Given the description of an element on the screen output the (x, y) to click on. 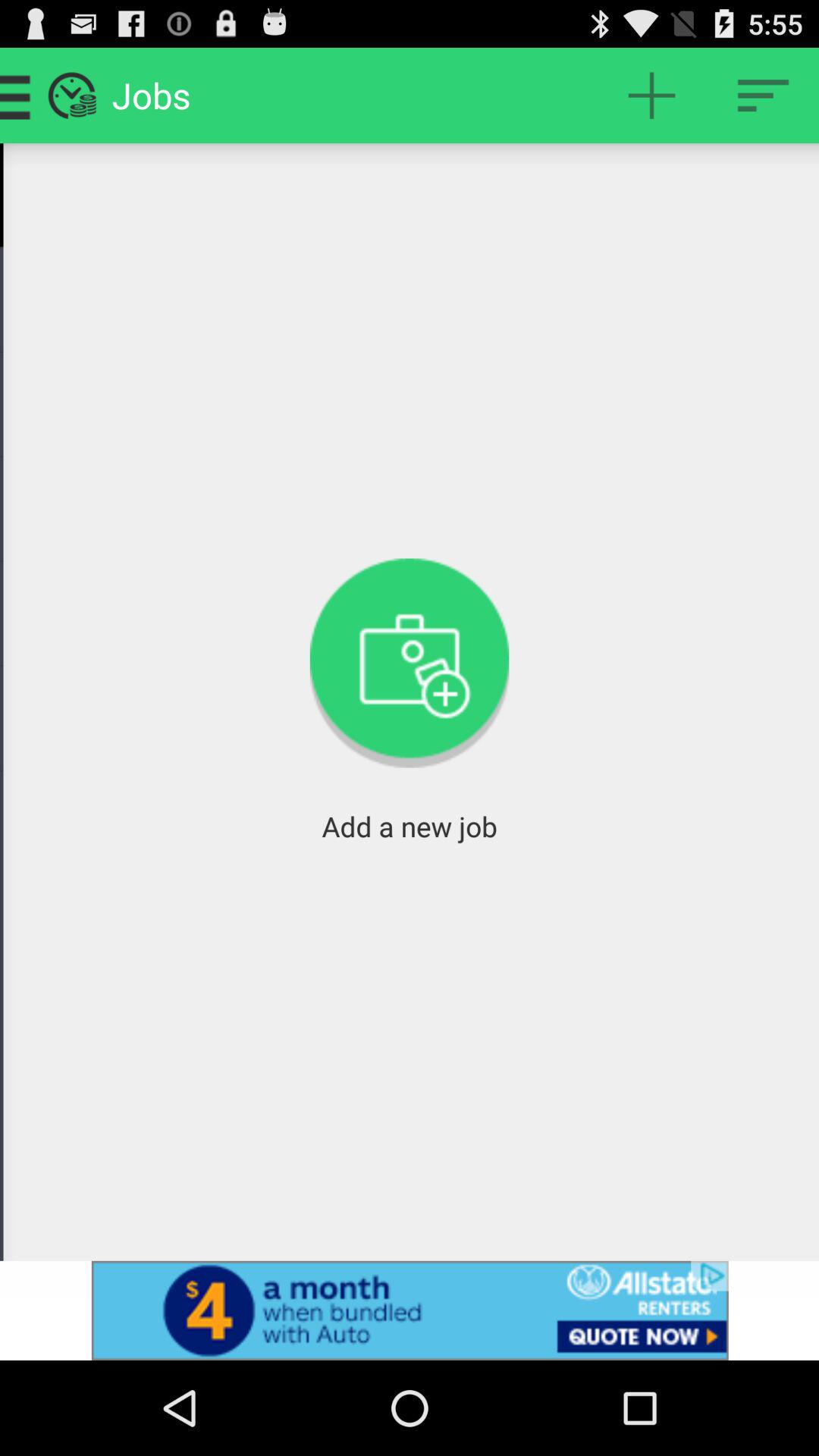
open settings (763, 95)
